Given the description of an element on the screen output the (x, y) to click on. 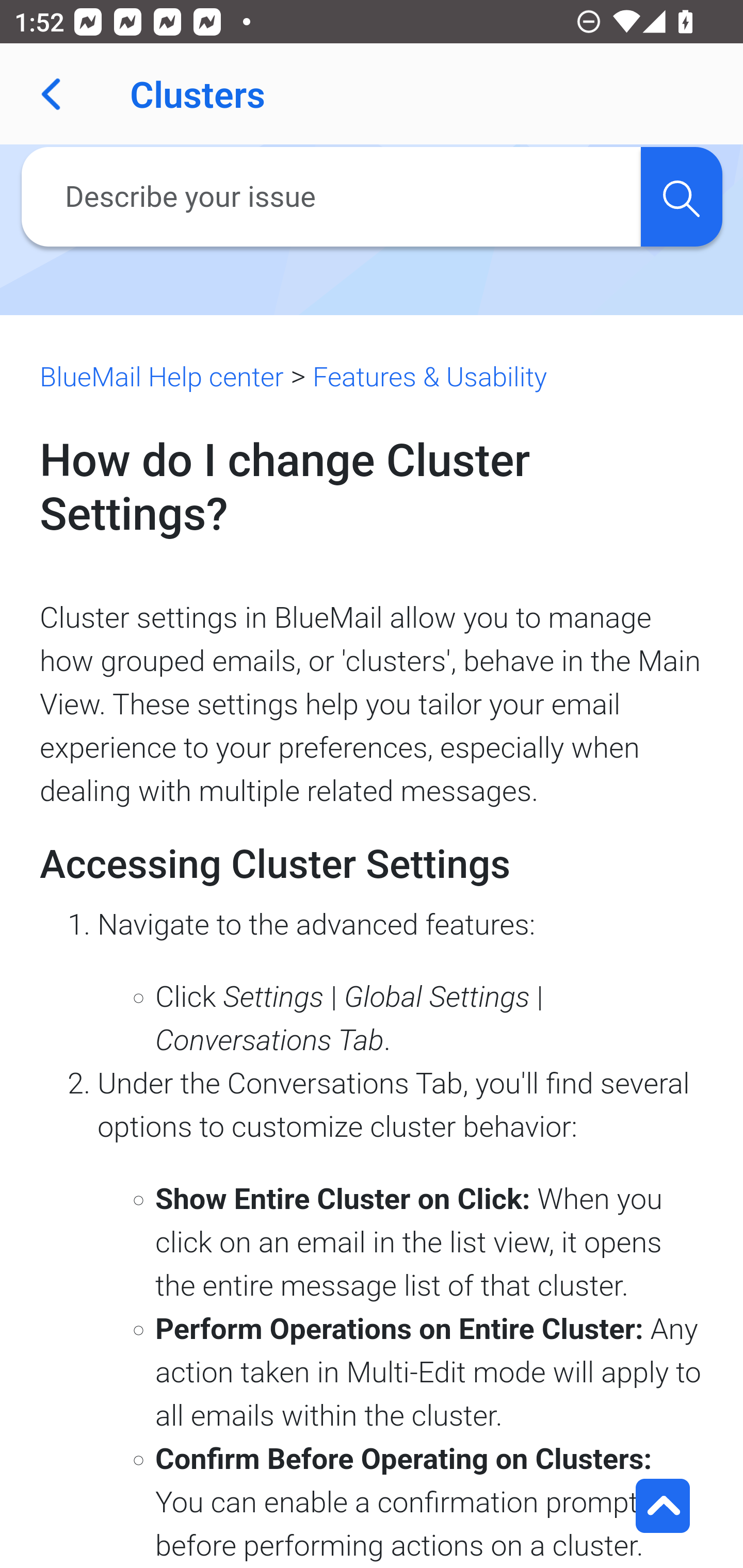
Navigate up (50, 93)
search (680, 196)
BlueMail Help center BlueMail  Help center (162, 376)
Features & Usability (429, 376)
